Given the description of an element on the screen output the (x, y) to click on. 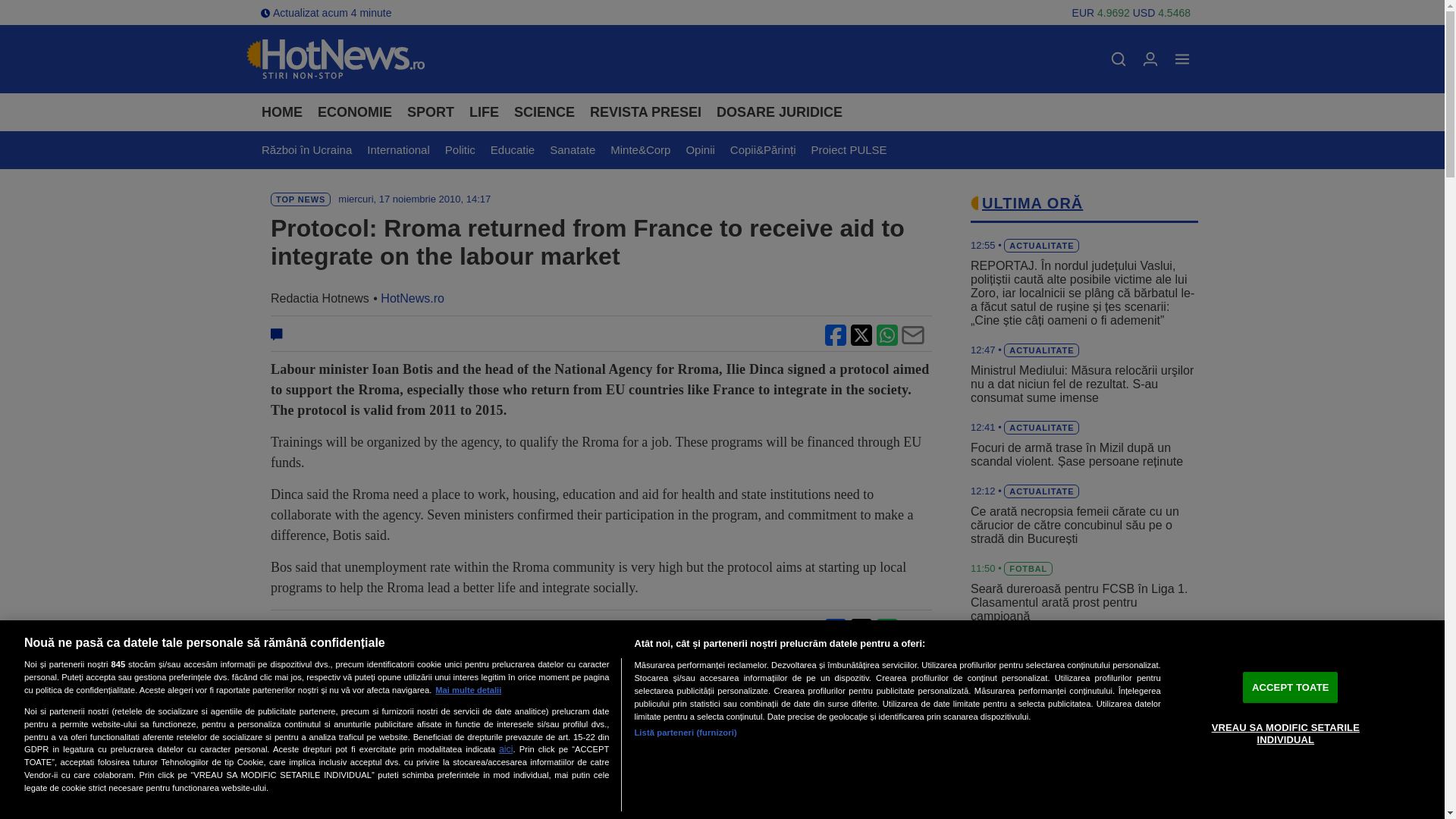
Actualizat: miercuri, 17 noiembrie 2010, 14:17 (413, 199)
